Given the description of an element on the screen output the (x, y) to click on. 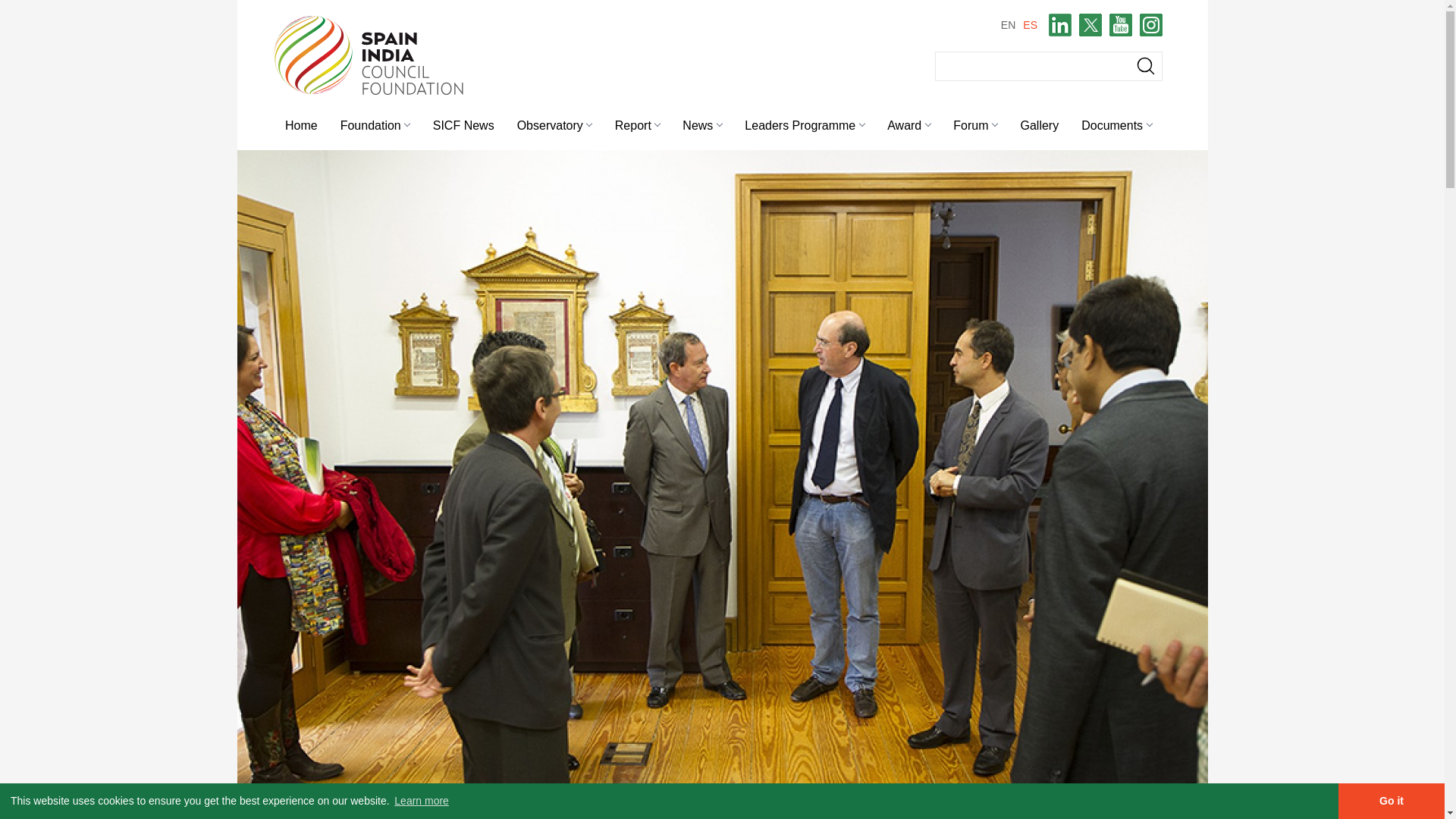
Observatory (553, 123)
SICF News (462, 123)
Learn more (422, 801)
Foundation (374, 123)
Home (301, 123)
ES (1029, 24)
Report (636, 123)
